Given the description of an element on the screen output the (x, y) to click on. 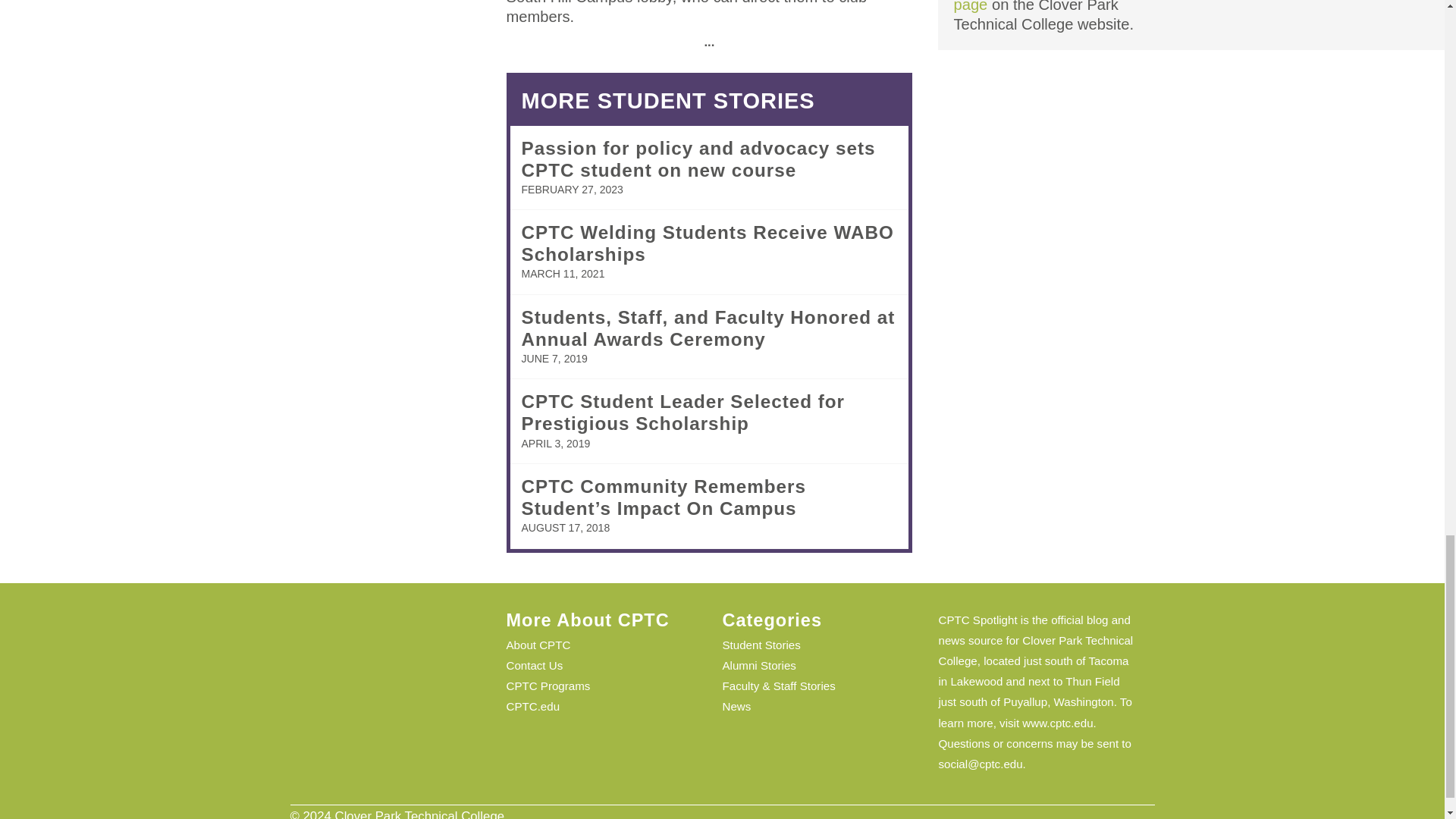
Clover Park Technical College (1036, 650)
www.cptc.edu (1057, 722)
Student Stories (760, 644)
CPTC Programs (548, 685)
Alumni Stories (758, 665)
About CPTC (538, 644)
Contact Us (534, 665)
CPTC Welding Students Receive WABO Scholarships (707, 242)
CPTC.edu (533, 706)
Material Science program page (1039, 6)
CPTC Student Leader Selected for Prestigious Scholarship (683, 412)
News (736, 706)
